Given the description of an element on the screen output the (x, y) to click on. 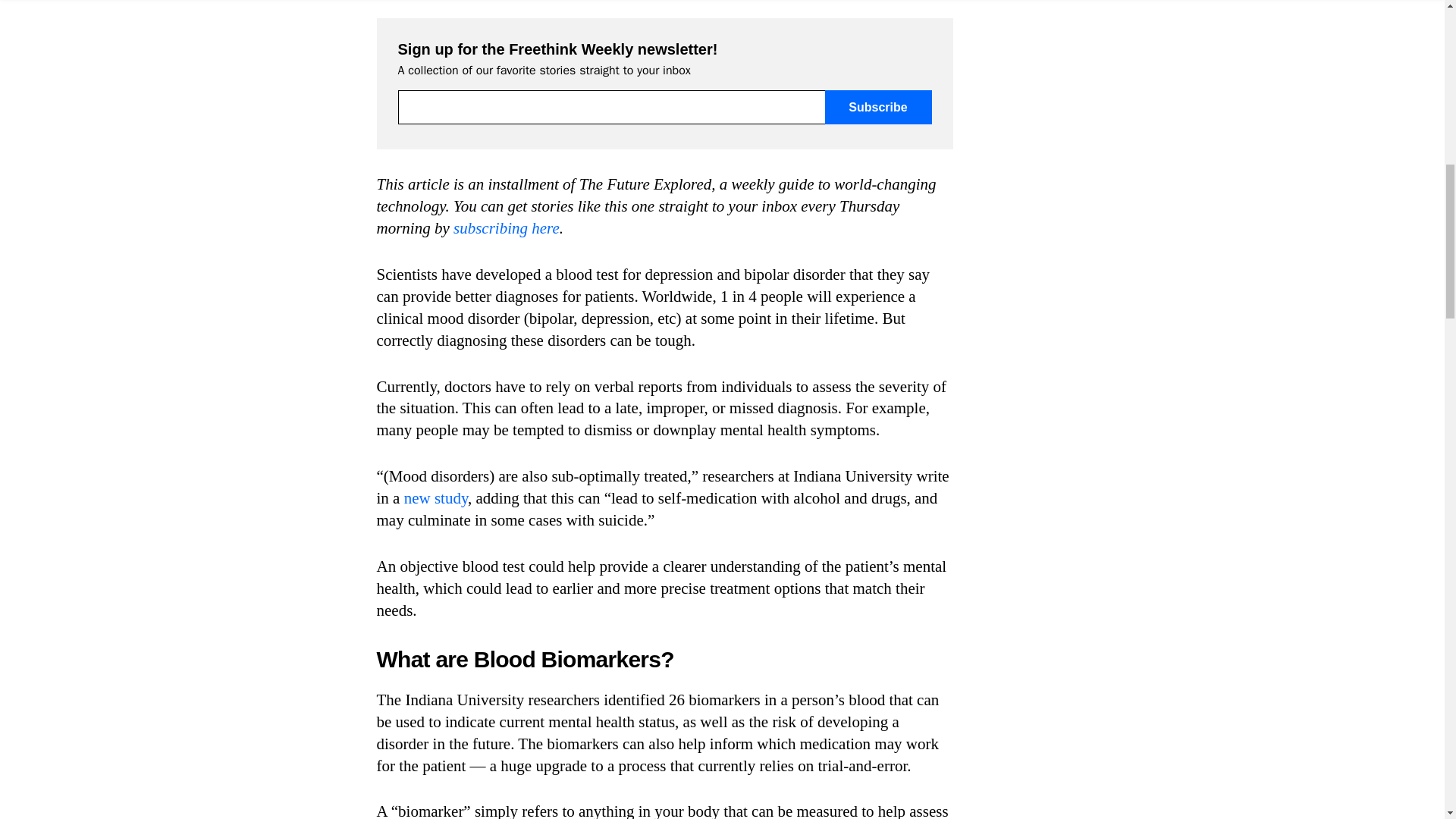
new study (435, 497)
Subscribe (878, 107)
Subscribe (878, 107)
subscribing here (505, 228)
